Given the description of an element on the screen output the (x, y) to click on. 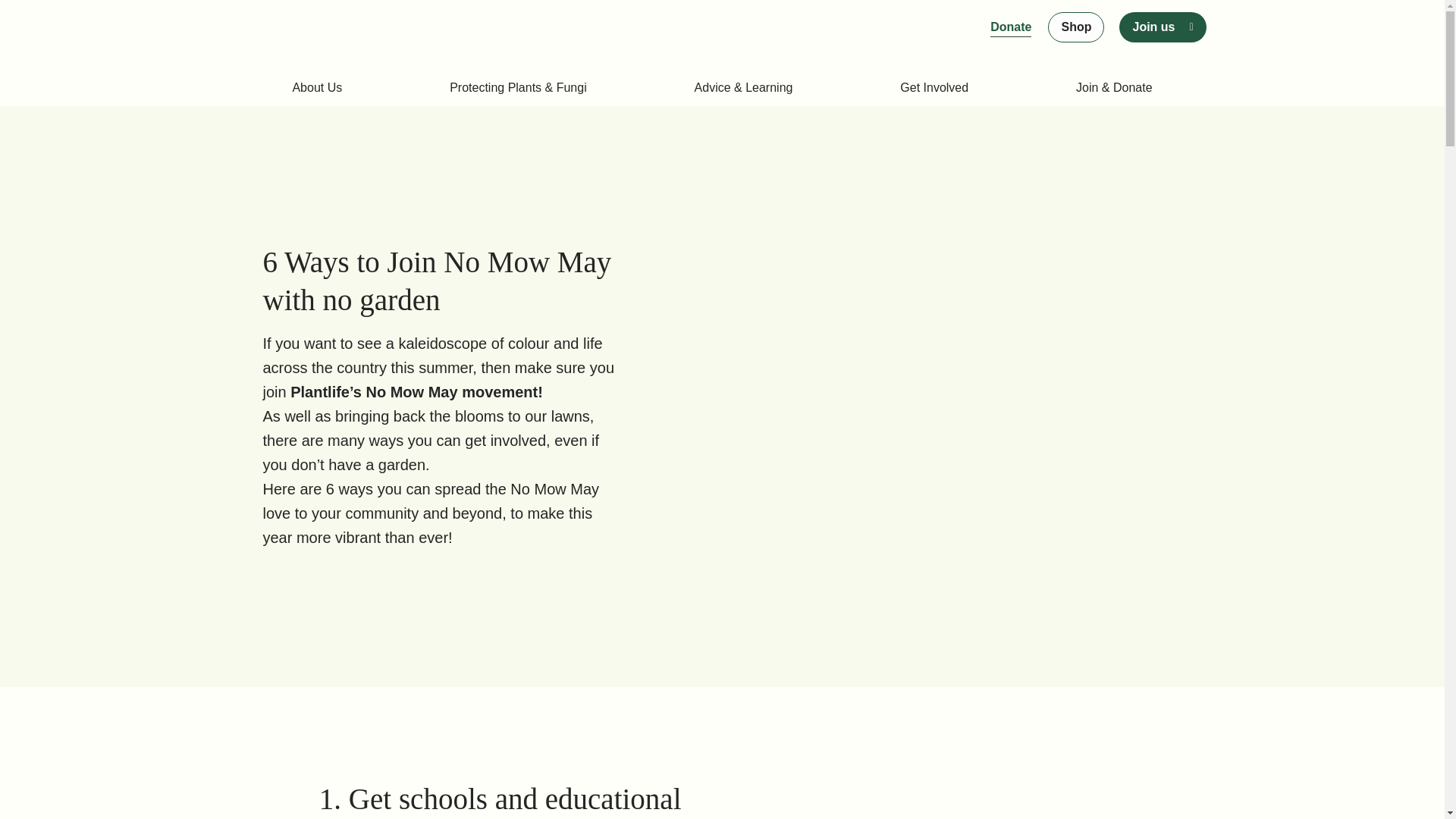
Shop (1075, 27)
Join us (1153, 27)
Donate (1010, 27)
